Given the description of an element on the screen output the (x, y) to click on. 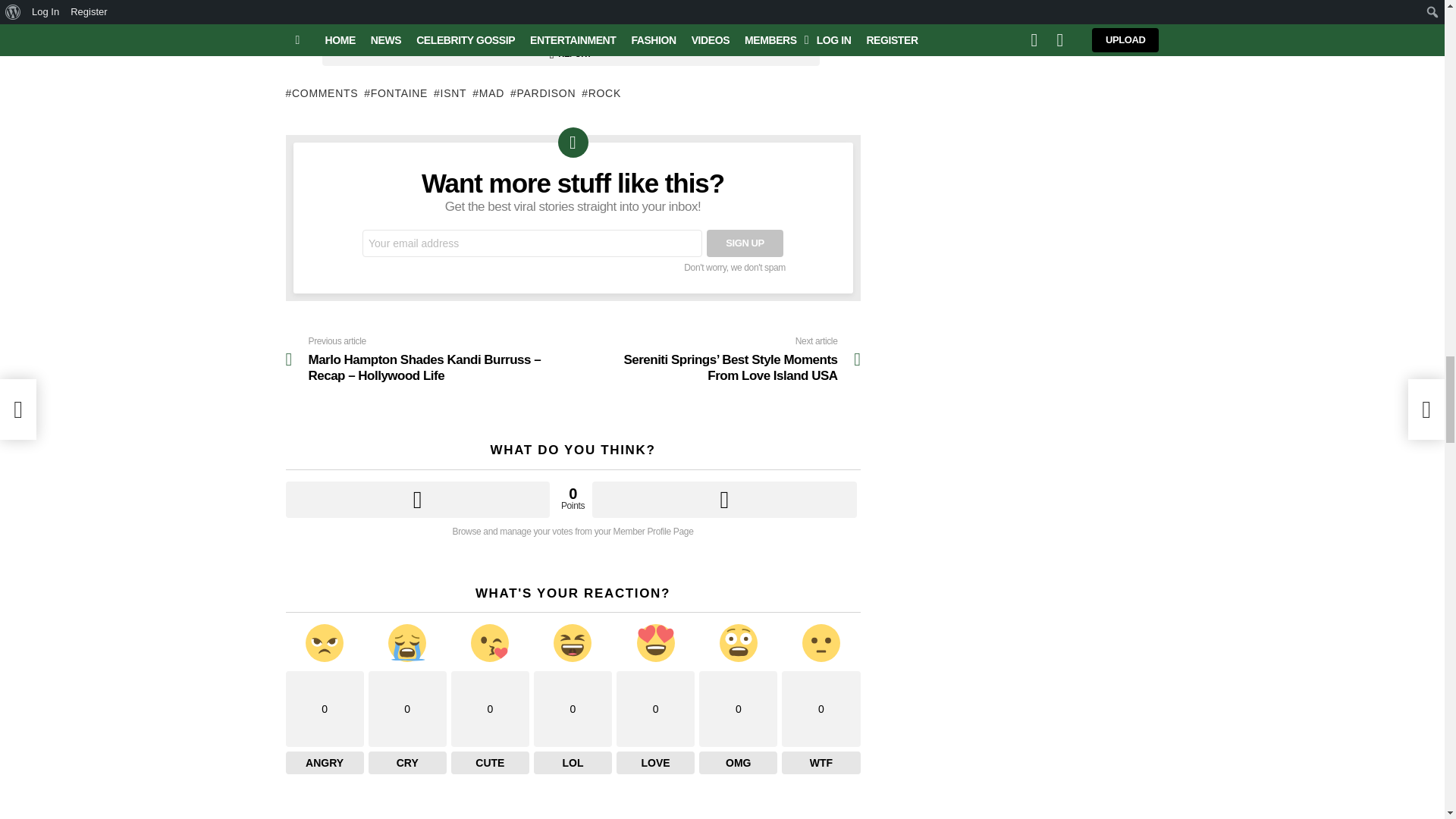
Sign up (744, 243)
